Given the description of an element on the screen output the (x, y) to click on. 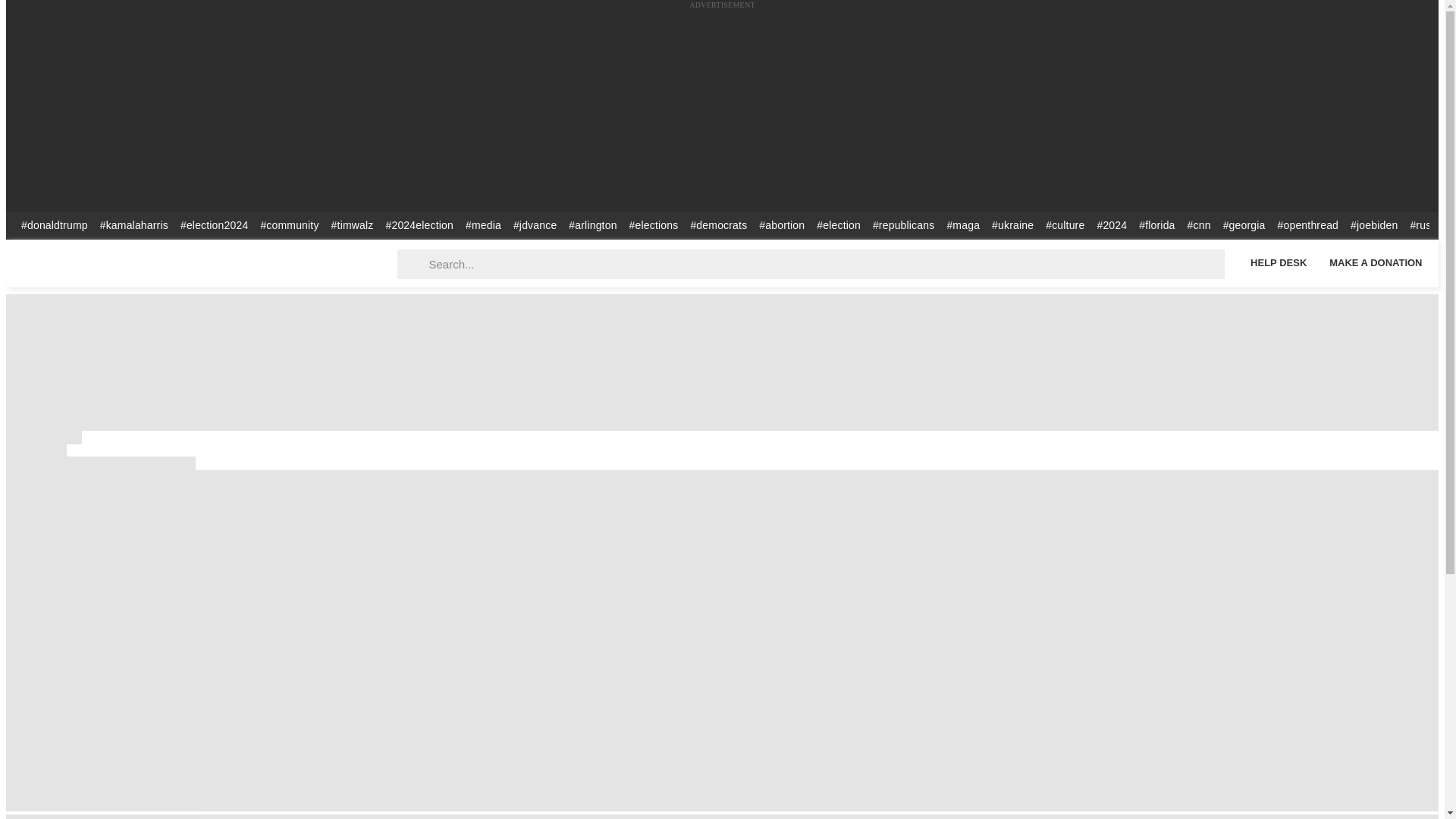
Help Desk (1277, 262)
MAKE A DONATION (1375, 262)
Make a Donation (1375, 262)
